Given the description of an element on the screen output the (x, y) to click on. 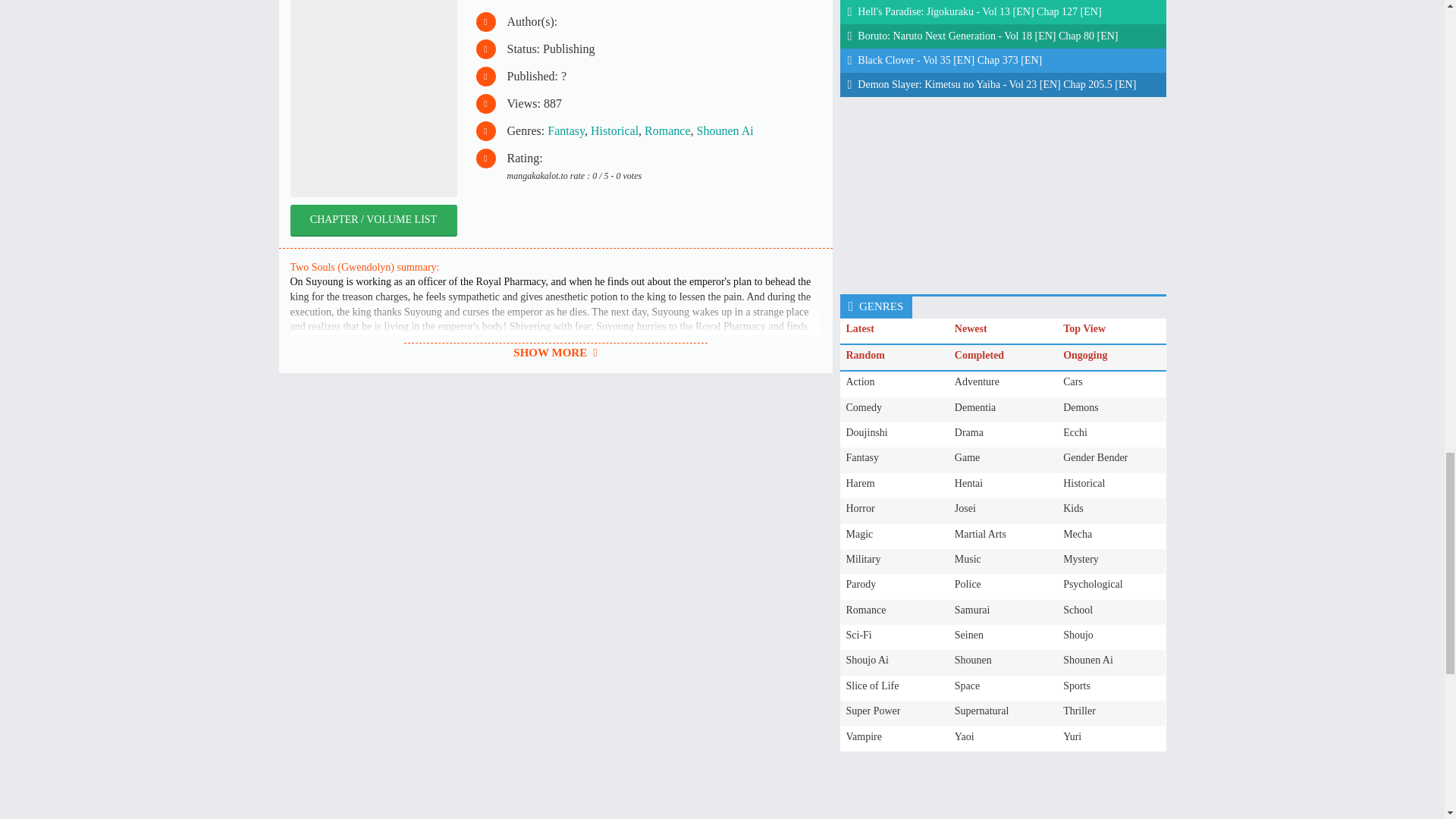
Historical (615, 130)
Romance (667, 130)
Shounen Ai (725, 130)
Fantasy (566, 130)
